Given the description of an element on the screen output the (x, y) to click on. 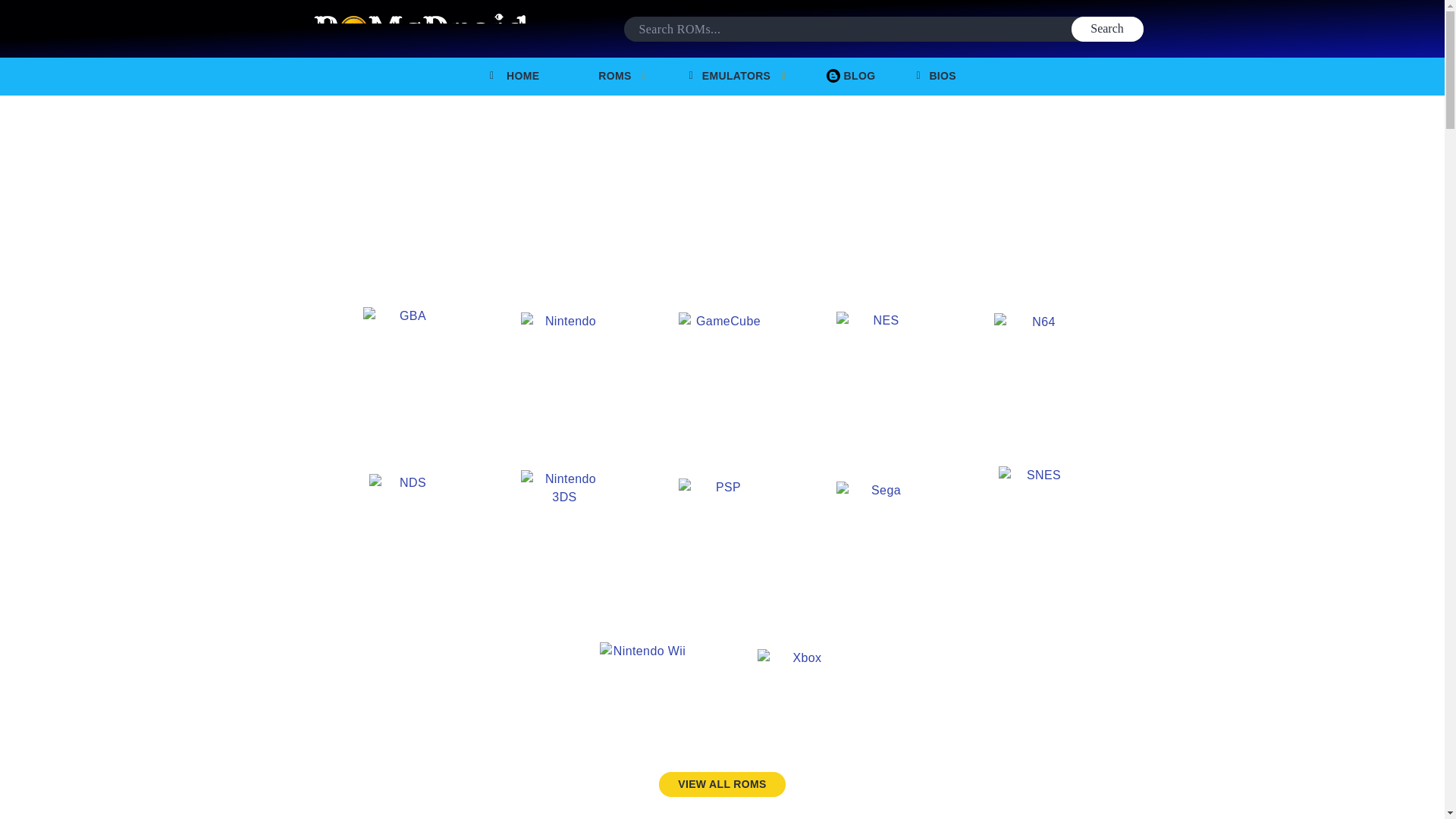
EMULATORS (737, 75)
Search (1106, 28)
BLOG (850, 76)
HOME (513, 75)
BIOS (935, 75)
ROMS (613, 75)
